Given the description of an element on the screen output the (x, y) to click on. 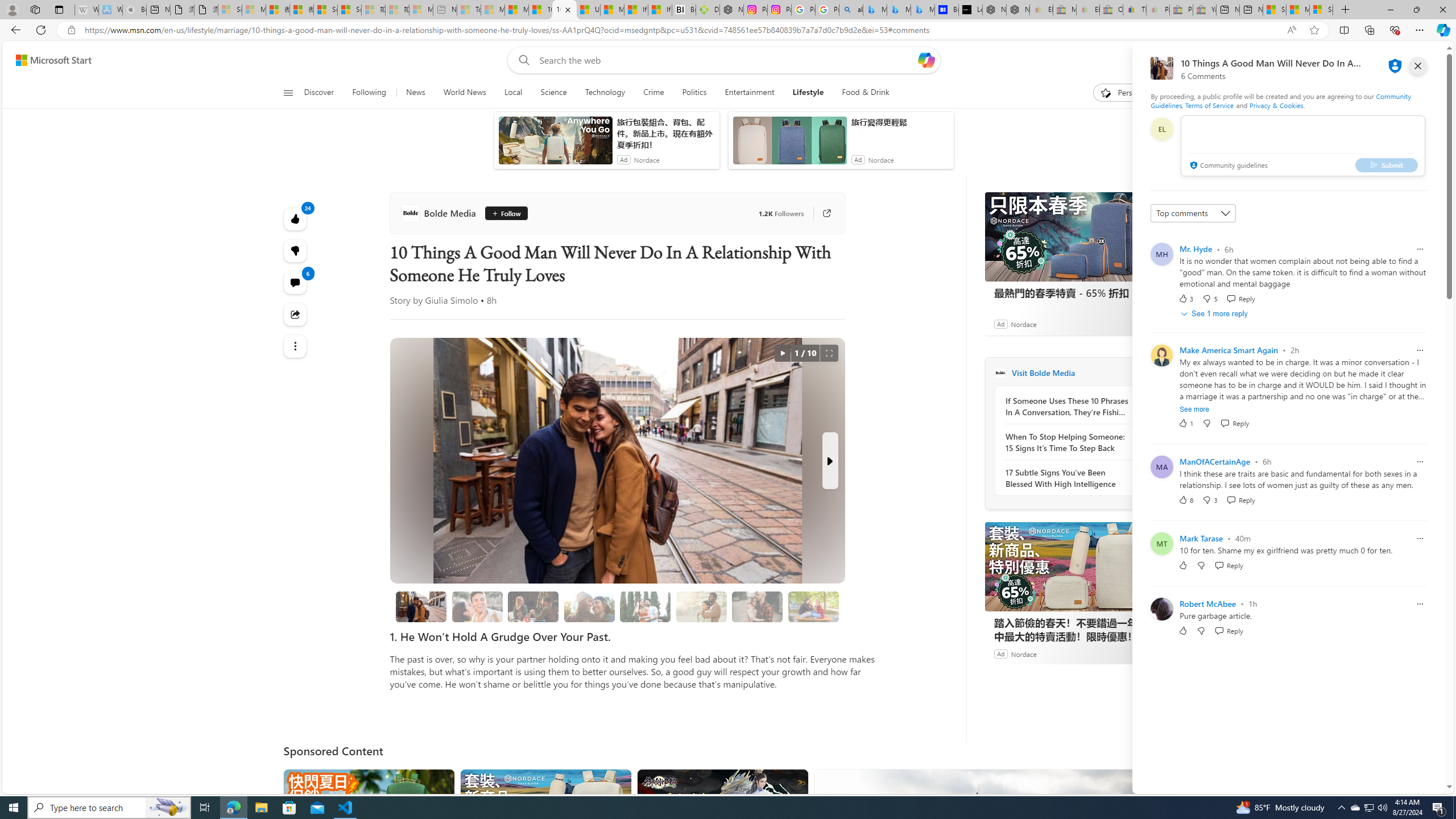
Wikipedia - Sleeping (86, 9)
1 Like (1185, 422)
Discover (323, 92)
ManOfACertainAge (1214, 461)
Science (553, 92)
Bolde Media (1000, 372)
Crime (653, 92)
Local (512, 92)
New tab (1251, 9)
Microsoft rewards (1374, 60)
